Given the description of an element on the screen output the (x, y) to click on. 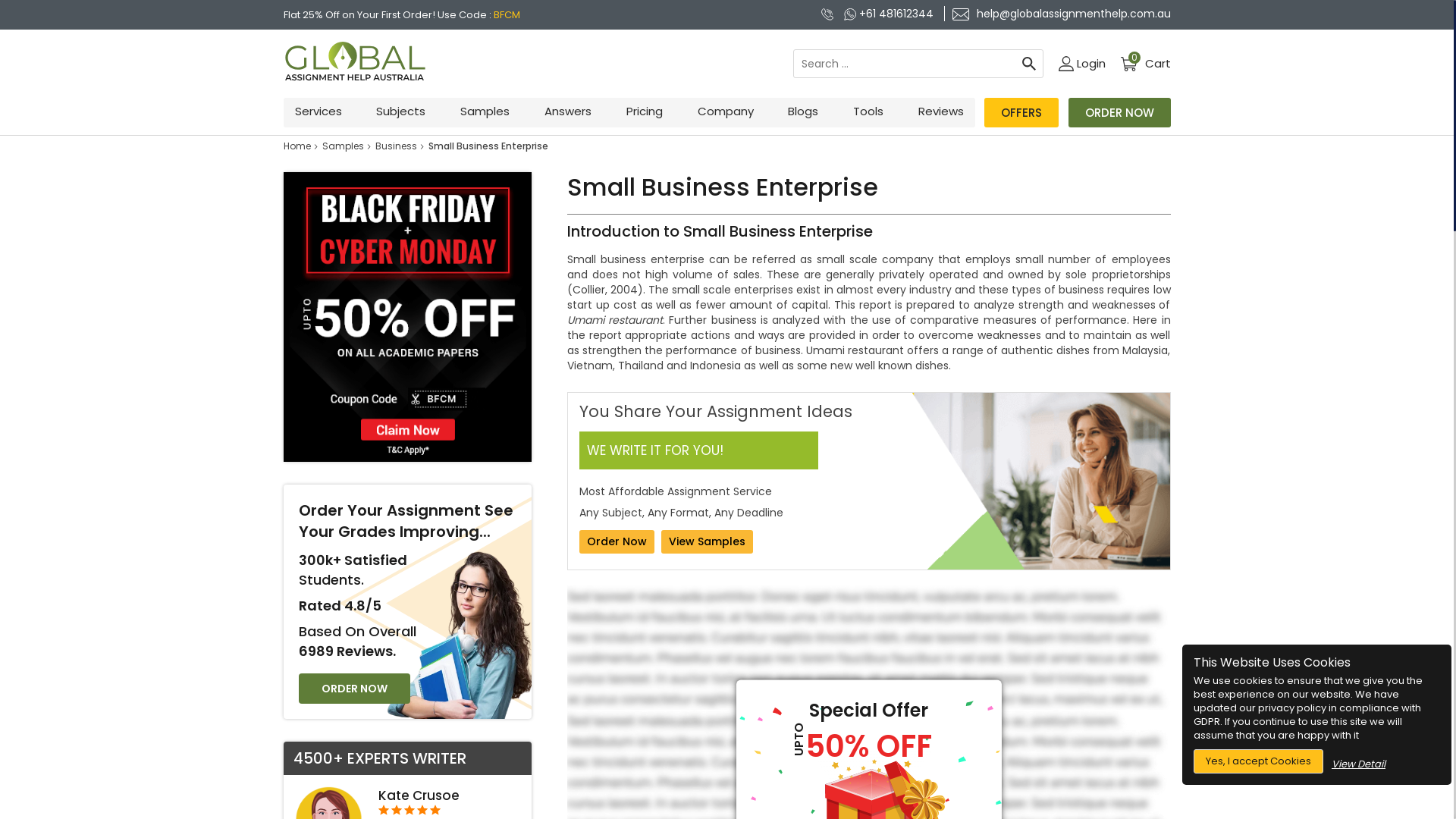
help@globalassignmenthelp.com.au Element type: text (1057, 13)
View Samples Element type: text (707, 757)
0
Cart Element type: text (1145, 63)
Login Element type: text (1081, 64)
Reviews Element type: text (940, 110)
Yes, I accept Cookies Element type: text (1258, 761)
Home Element type: text (296, 145)
View Detail Element type: text (1358, 763)
OFFERS Element type: text (1021, 112)
Samples Element type: text (484, 110)
Pricing Element type: text (644, 110)
+61 481612344 Element type: text (890, 13)
Samples Element type: text (342, 145)
Answers Element type: text (567, 110)
View Samples Element type: text (707, 541)
Business Element type: text (395, 145)
Order Now Element type: text (616, 541)
ORDER NOW Element type: text (354, 688)
Flat 25% Off on Your First Order! Use Code : BFCM Element type: text (401, 14)
Order Now Element type: text (616, 757)
ORDER NOW Element type: text (1118, 112)
Blogs Element type: text (802, 110)
